Given the description of an element on the screen output the (x, y) to click on. 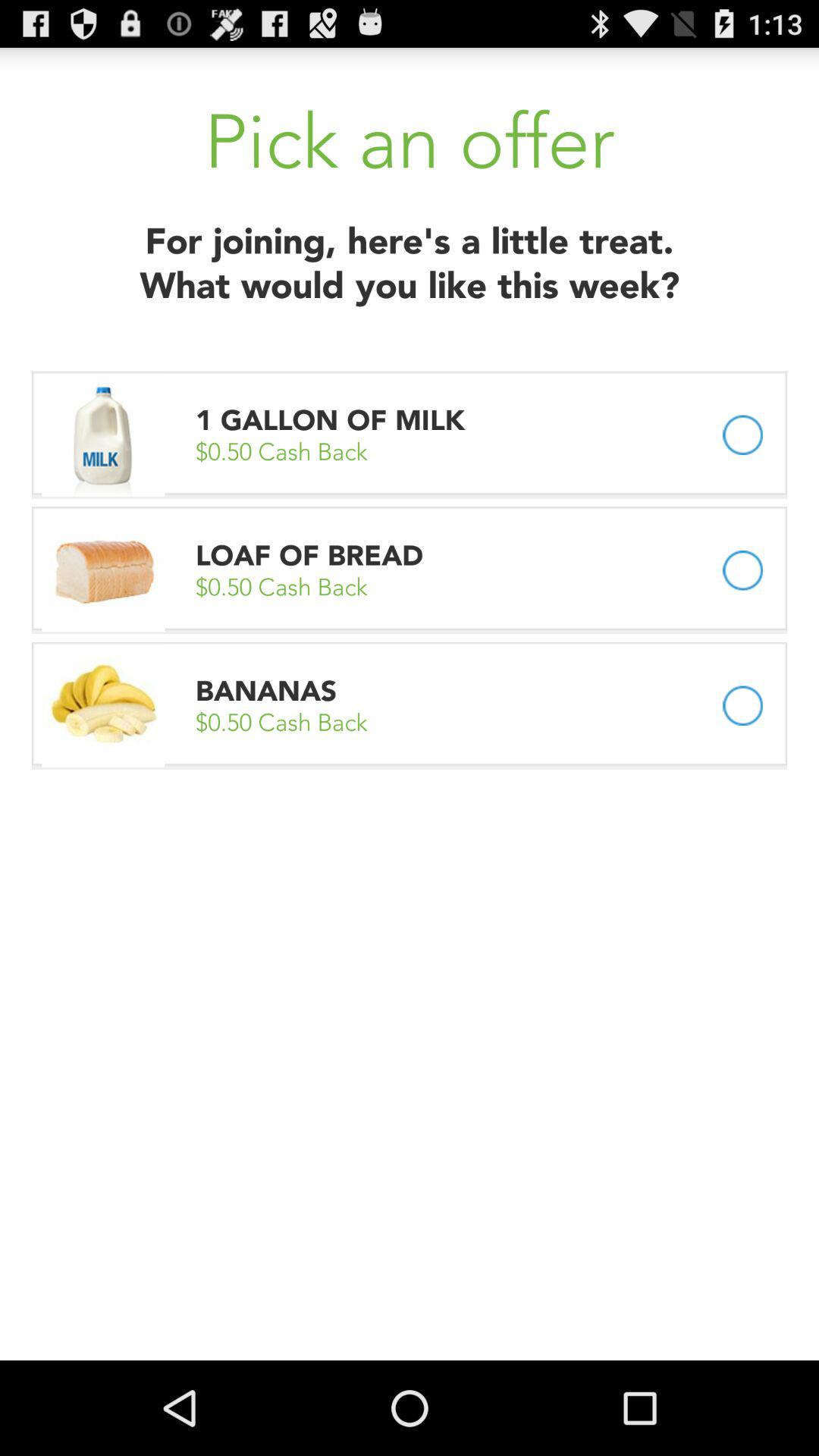
jump until bananas app (265, 690)
